Given the description of an element on the screen output the (x, y) to click on. 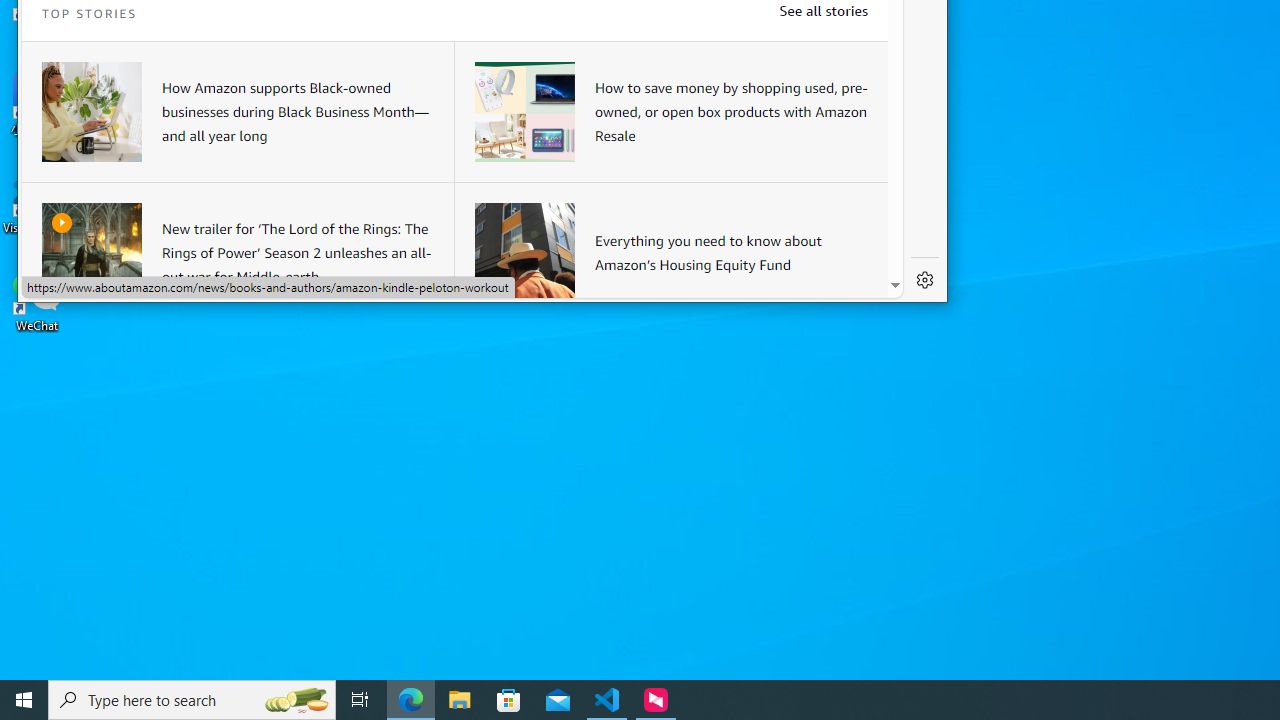
Microsoft Edge - 1 running window (411, 699)
Start (24, 699)
See all stories (823, 10)
File Explorer (460, 699)
Microsoft Store (509, 699)
